Given the description of an element on the screen output the (x, y) to click on. 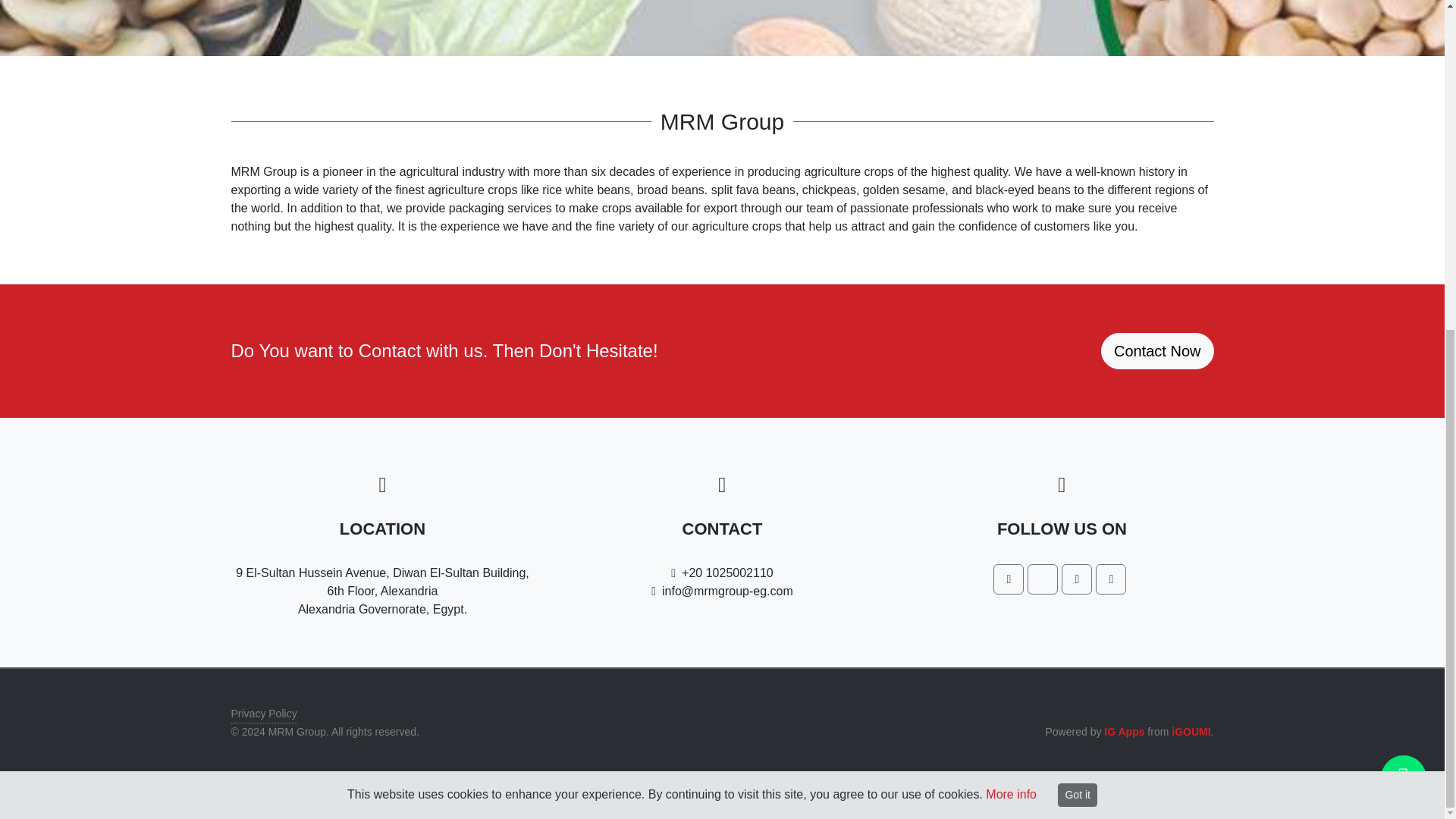
iGOUMI (1190, 731)
Contact Now (1157, 350)
IG Apps (1123, 731)
More info (1010, 246)
Privacy Policy (263, 713)
Got it (1077, 248)
